Given the description of an element on the screen output the (x, y) to click on. 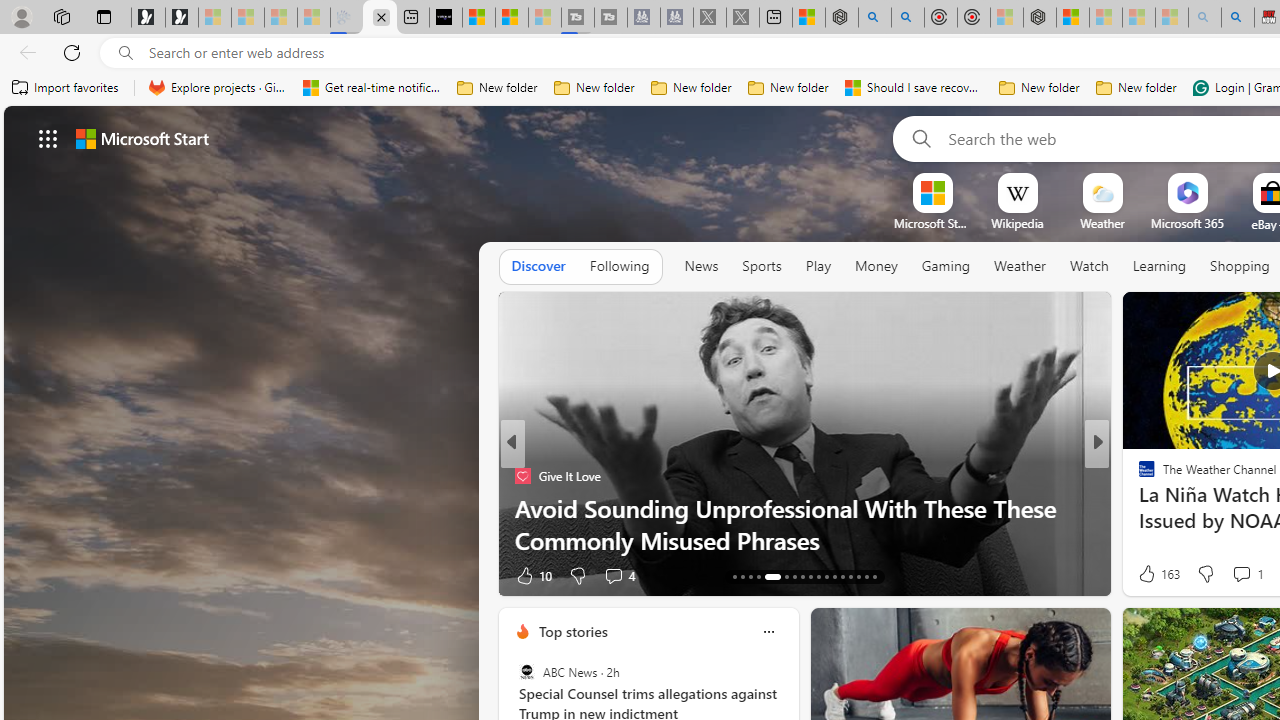
To get missing image descriptions, open the context menu. (932, 192)
View comments 11 Comment (1244, 574)
23 Like (1149, 574)
Amazon Echo Dot PNG - Search Images (1238, 17)
AutomationID: tab-14 (742, 576)
View comments 91 Comment (1237, 574)
